Given the description of an element on the screen output the (x, y) to click on. 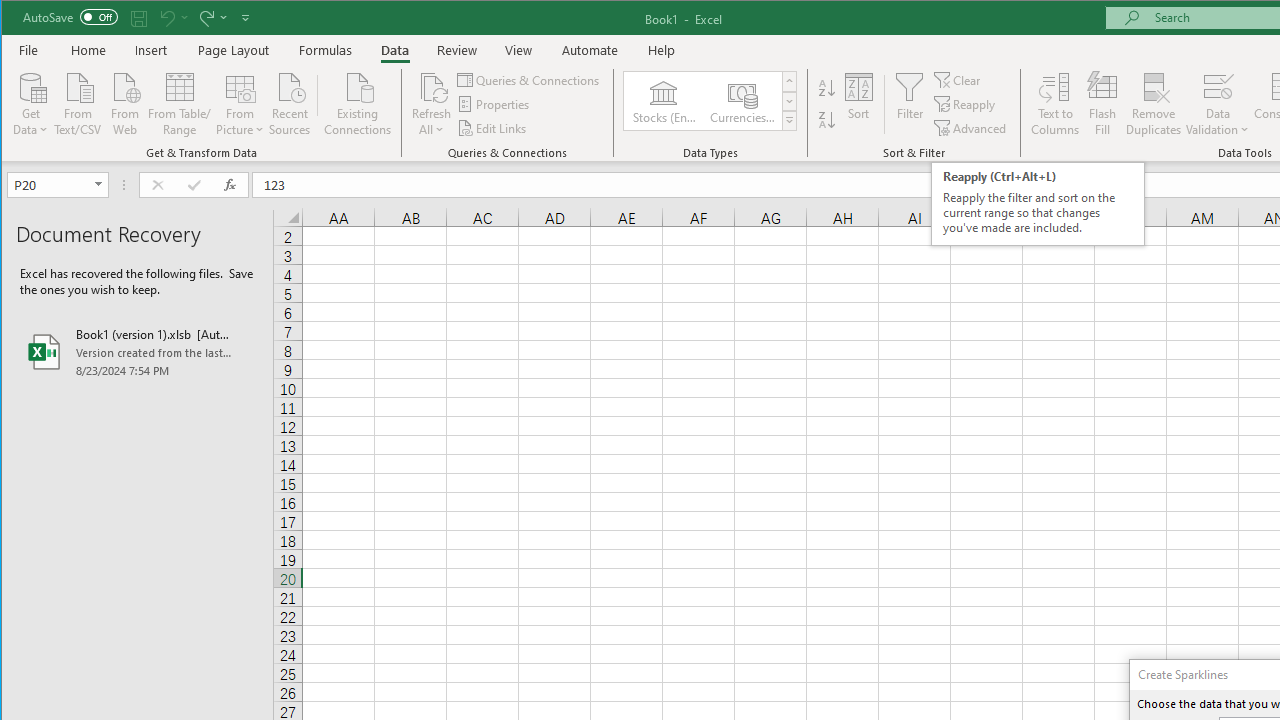
Sort Largest to Smallest (827, 119)
